Given the description of an element on the screen output the (x, y) to click on. 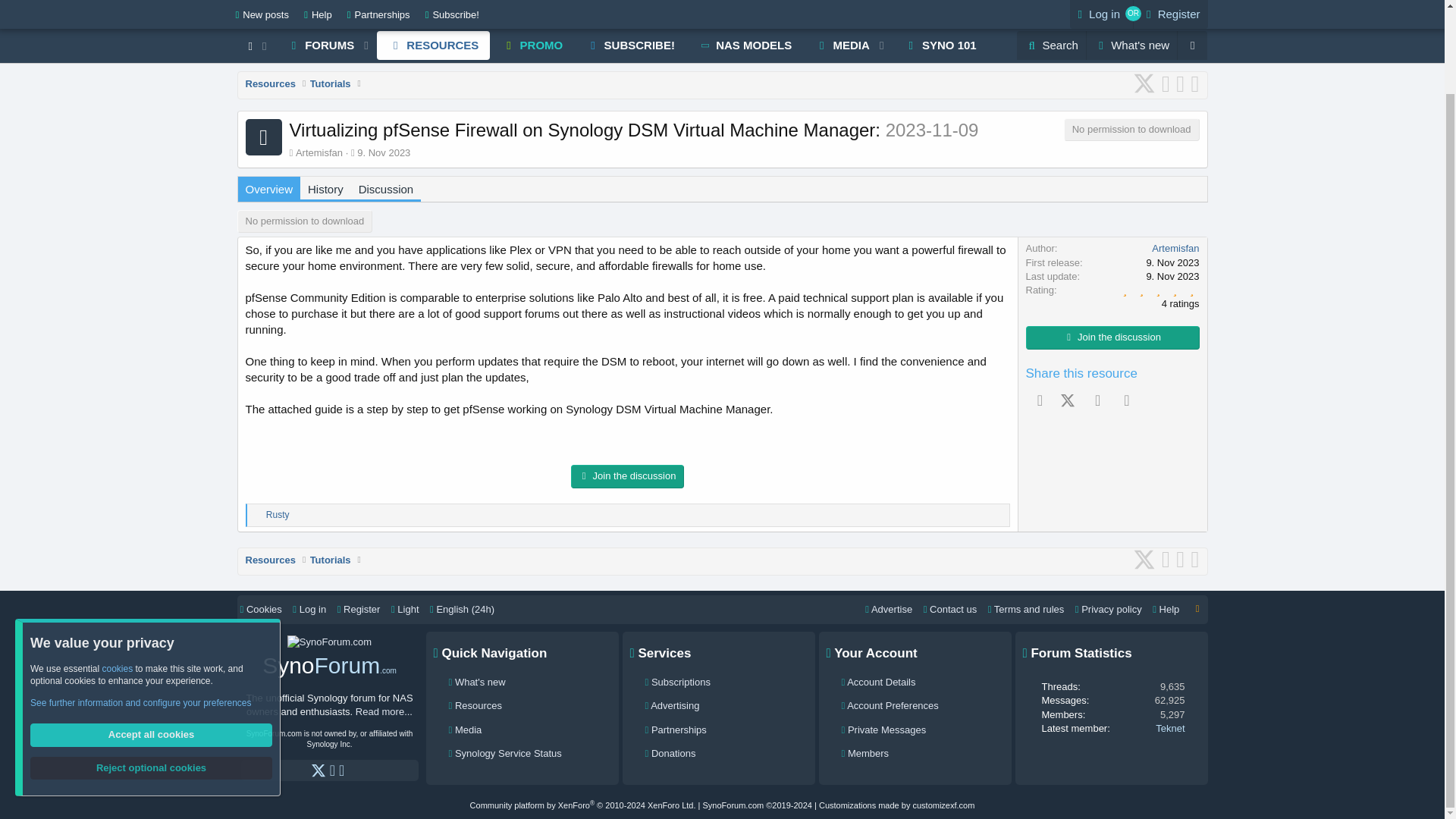
SUBSCRIBE! (629, 22)
9. Nov 2023 at 22:49 (383, 152)
SYNO 101 (611, 22)
MEDIA (940, 22)
Overview History Discussion (836, 22)
Search (330, 188)
What's new (1051, 22)
9. Nov 2023 at 22:49 (1131, 22)
